Given the description of an element on the screen output the (x, y) to click on. 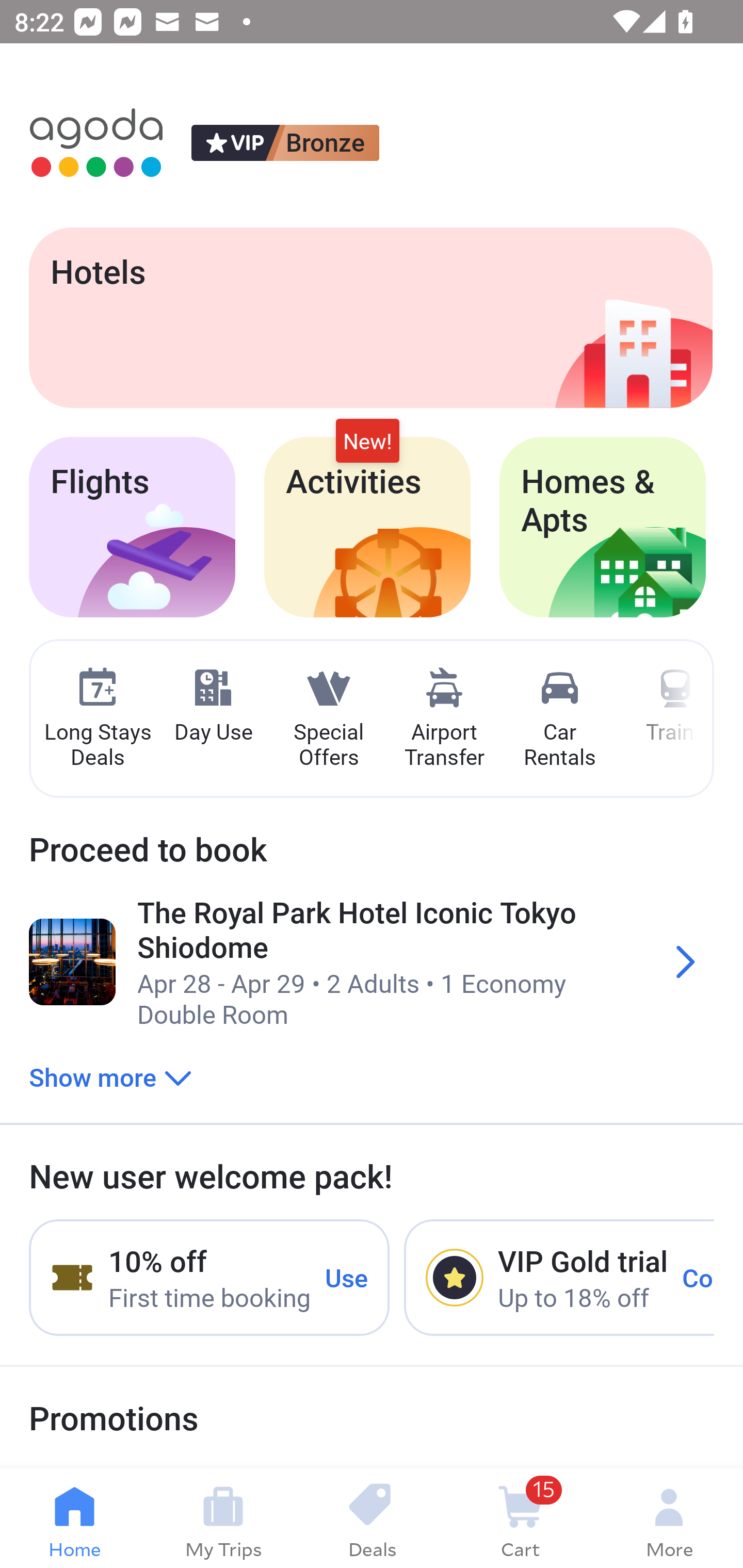
Hotels (370, 317)
New! (367, 441)
Flights (131, 527)
Activities (367, 527)
Homes & Apts (602, 527)
Day Use (213, 706)
Long Stays Deals (97, 718)
Special Offers (328, 718)
Airport Transfer (444, 718)
Car Rentals (559, 718)
Show more (110, 1076)
Use (346, 1277)
Home (74, 1518)
My Trips (222, 1518)
Deals (371, 1518)
15 Cart (519, 1518)
More (668, 1518)
